Given the description of an element on the screen output the (x, y) to click on. 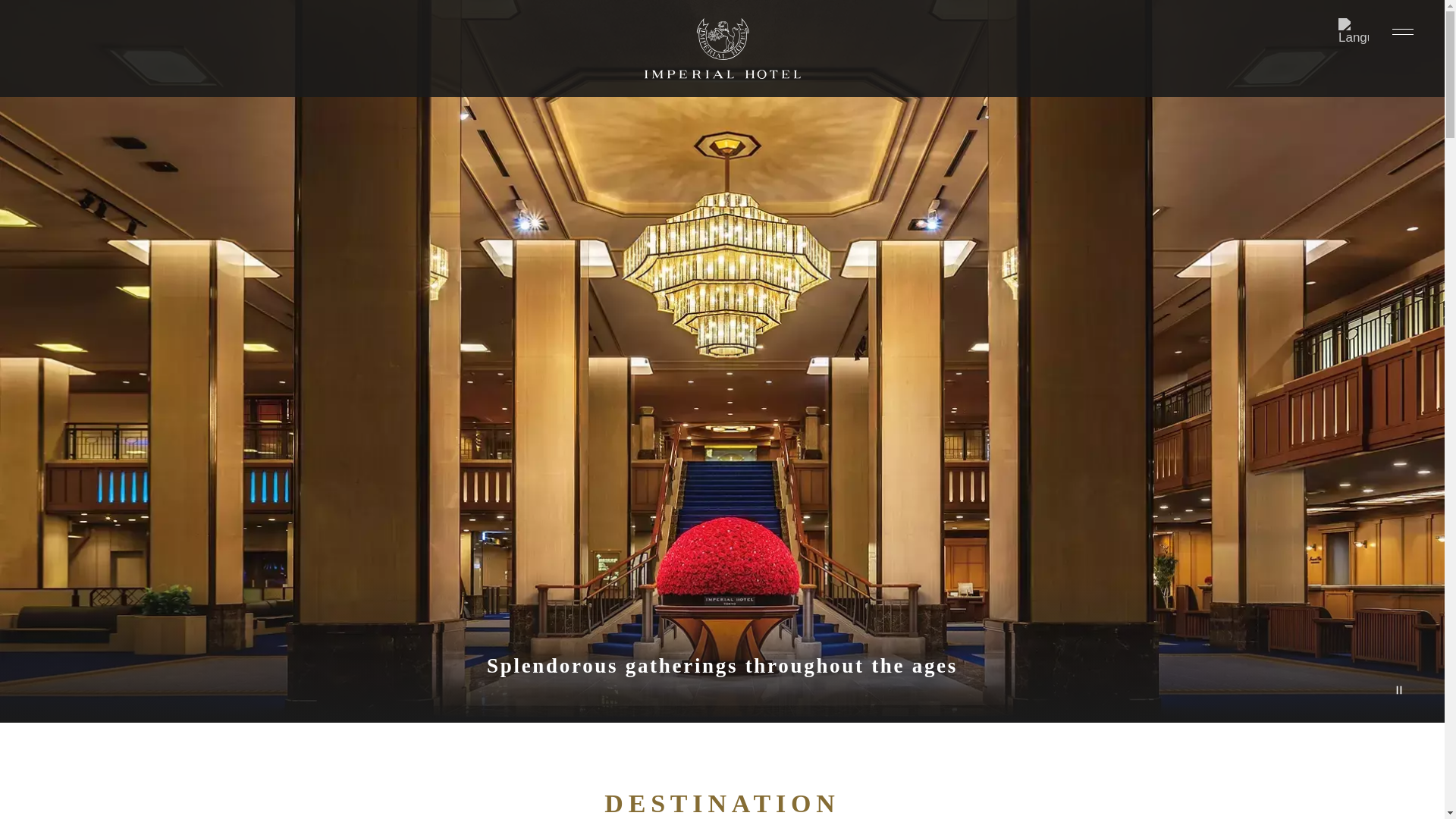
Menu (1402, 31)
Pause (1398, 689)
